Given the description of an element on the screen output the (x, y) to click on. 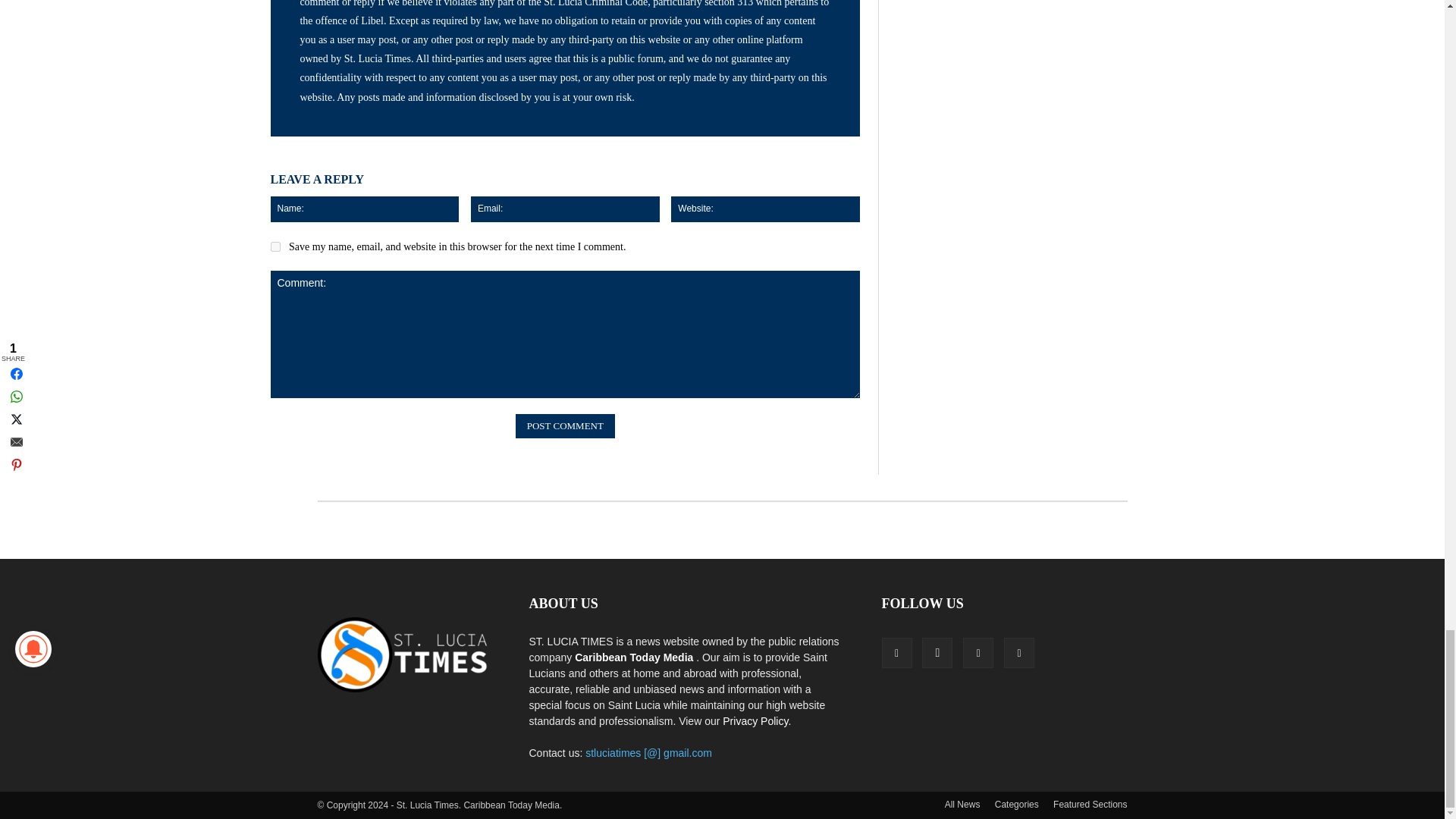
yes (274, 246)
Post Comment (564, 426)
